Given the description of an element on the screen output the (x, y) to click on. 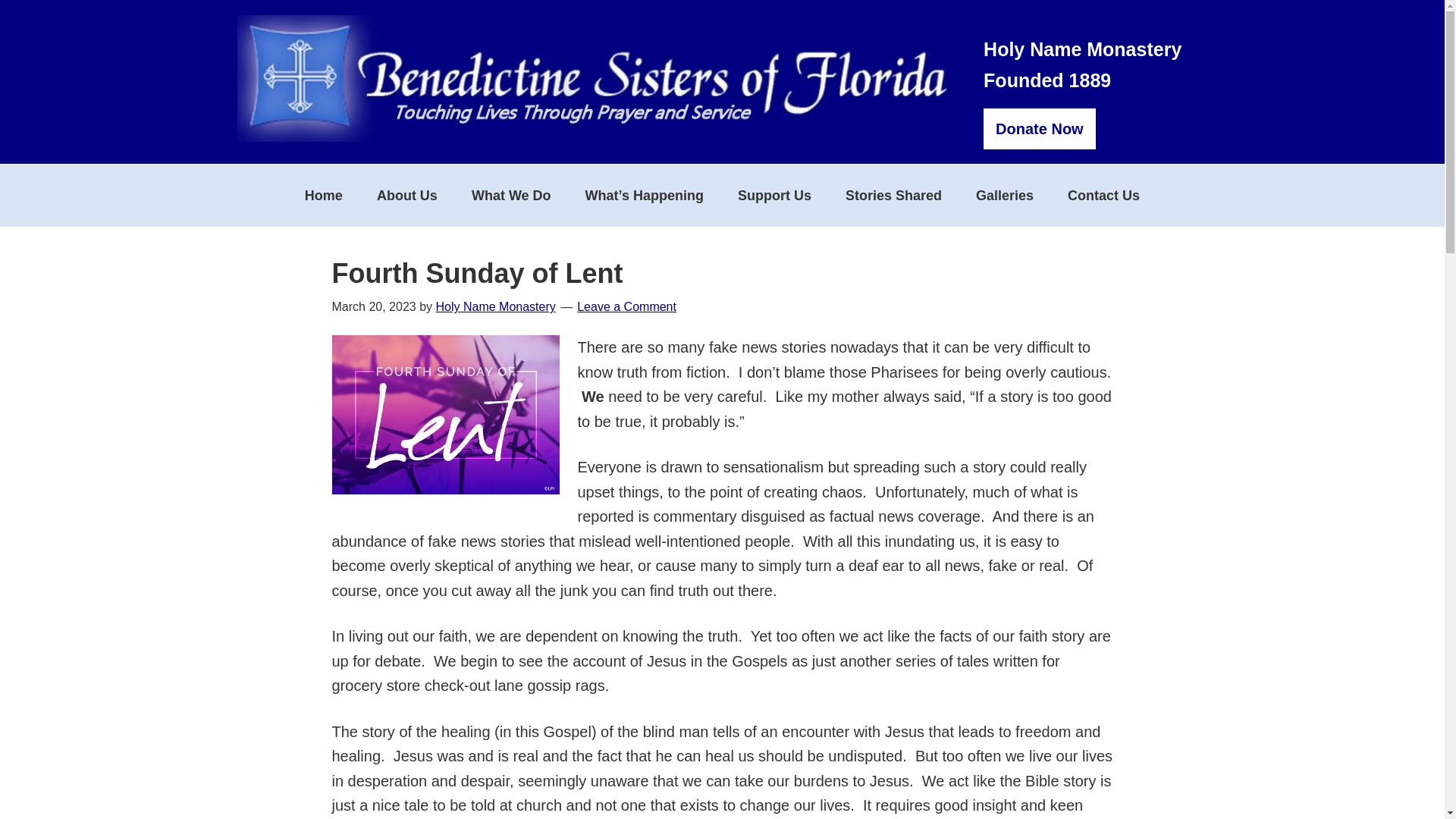
Donate Now (1040, 128)
Stories Shared (892, 195)
What We Do (511, 195)
About Us (406, 195)
Home (323, 195)
Support Us (774, 195)
